Given the description of an element on the screen output the (x, y) to click on. 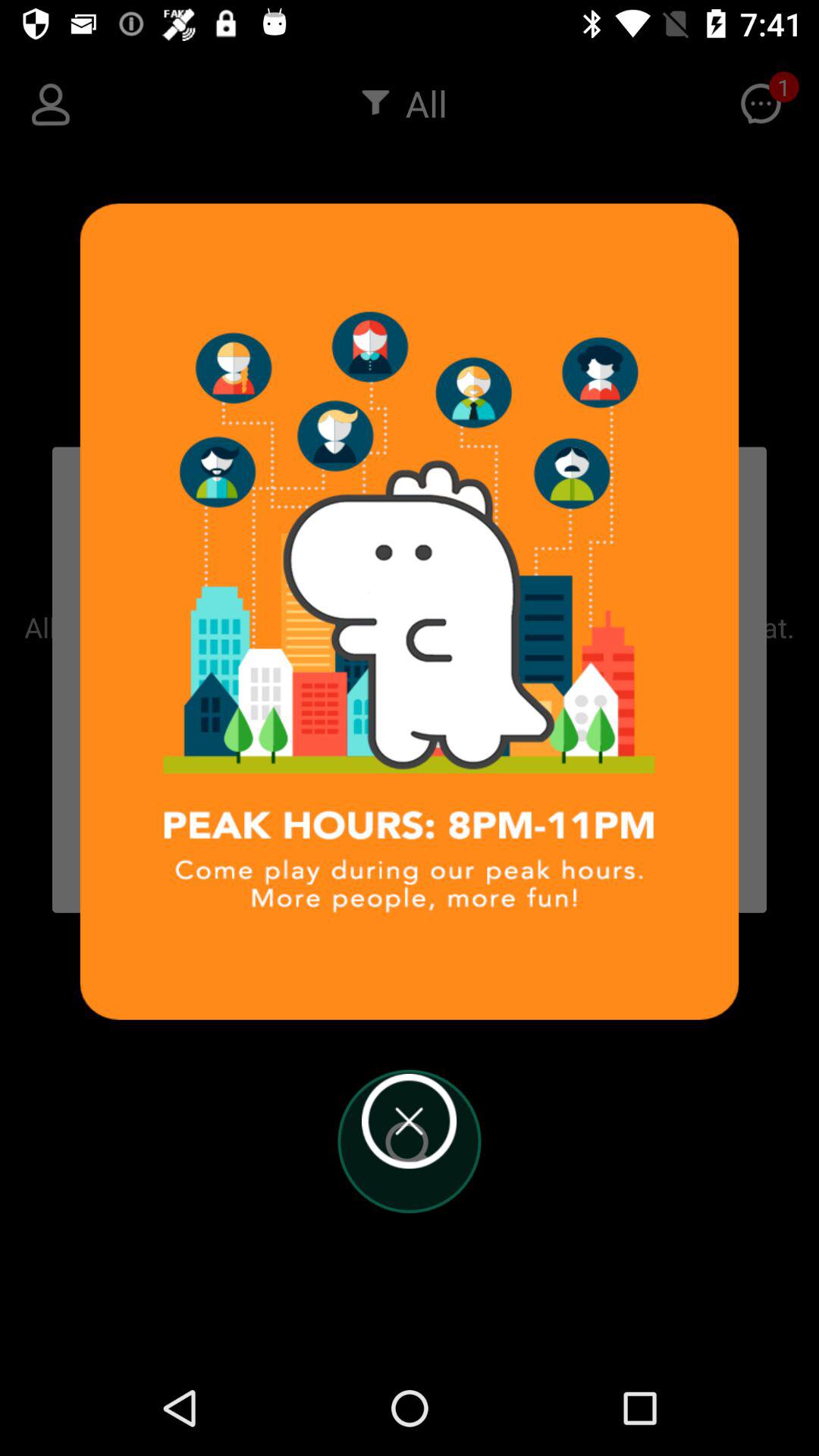
close (408, 1120)
